Given the description of an element on the screen output the (x, y) to click on. 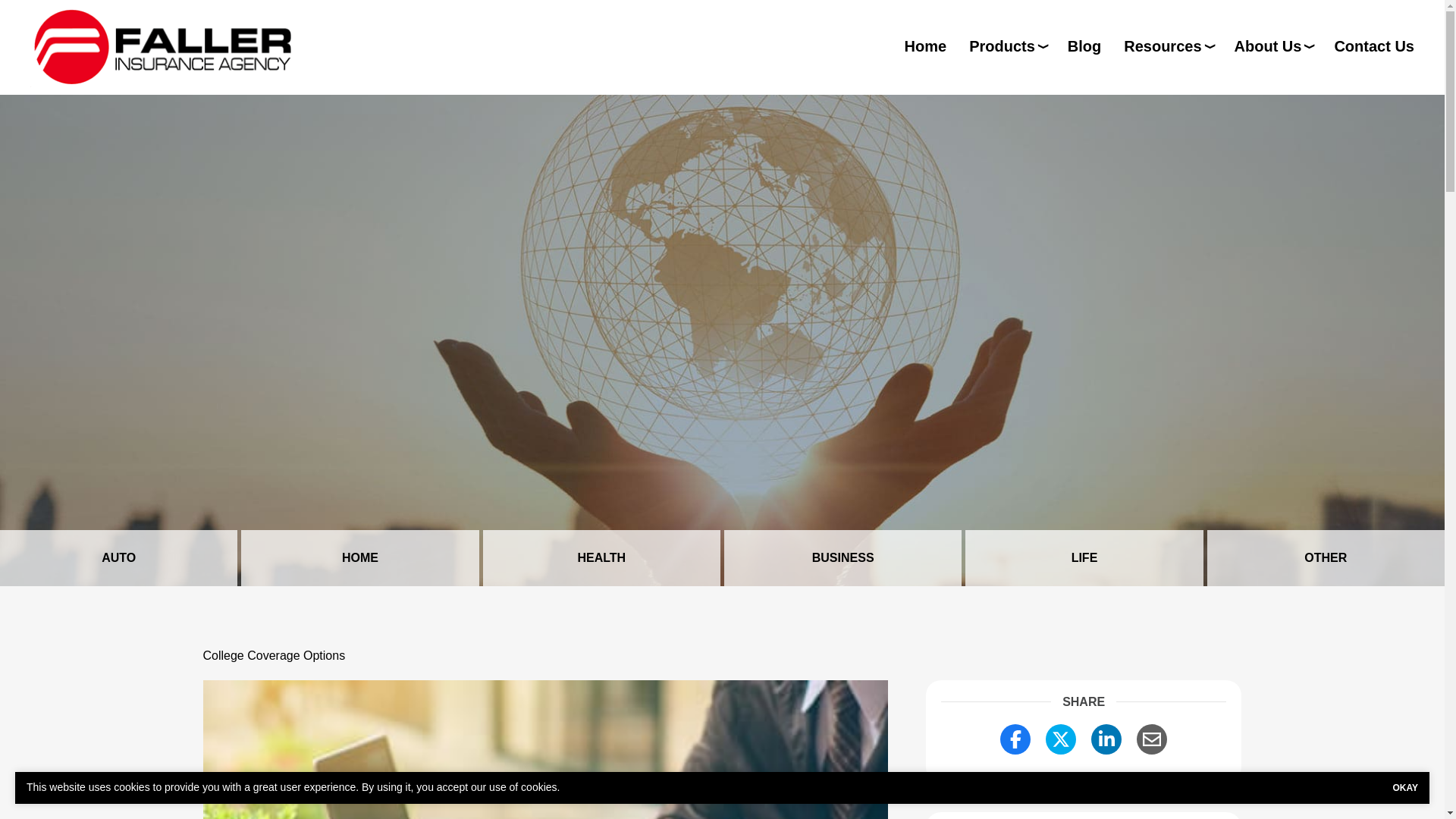
Blog (1083, 46)
Home (925, 46)
Products (1007, 46)
Resources (1167, 46)
